Given the description of an element on the screen output the (x, y) to click on. 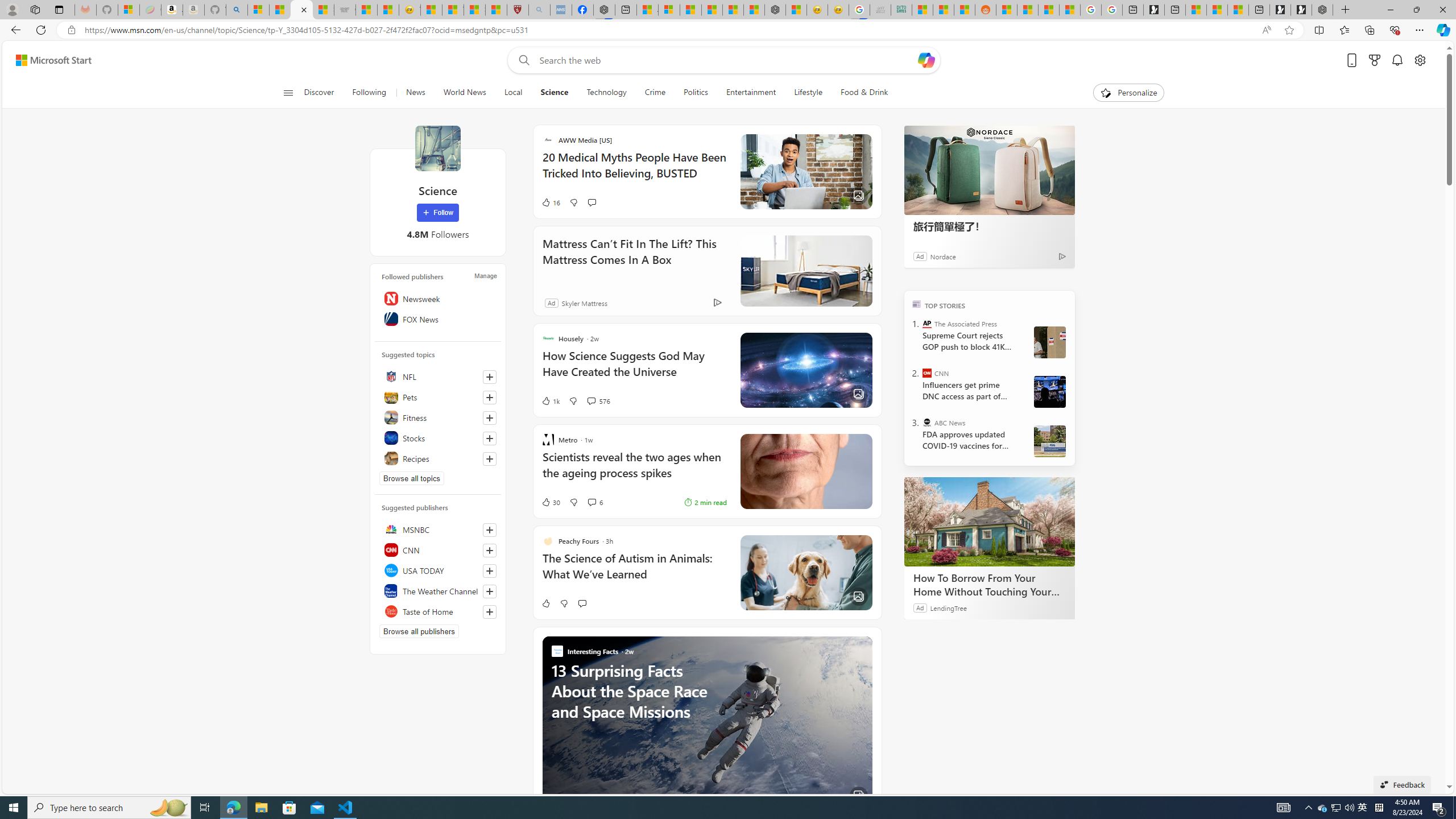
TOP (916, 302)
ABC News (927, 422)
FOX News (437, 318)
Browse all publishers (419, 631)
View comments 576 Comment (590, 400)
Nordace - #1 Japanese Best-Seller - Siena Smart Backpack (775, 9)
